Given the description of an element on the screen output the (x, y) to click on. 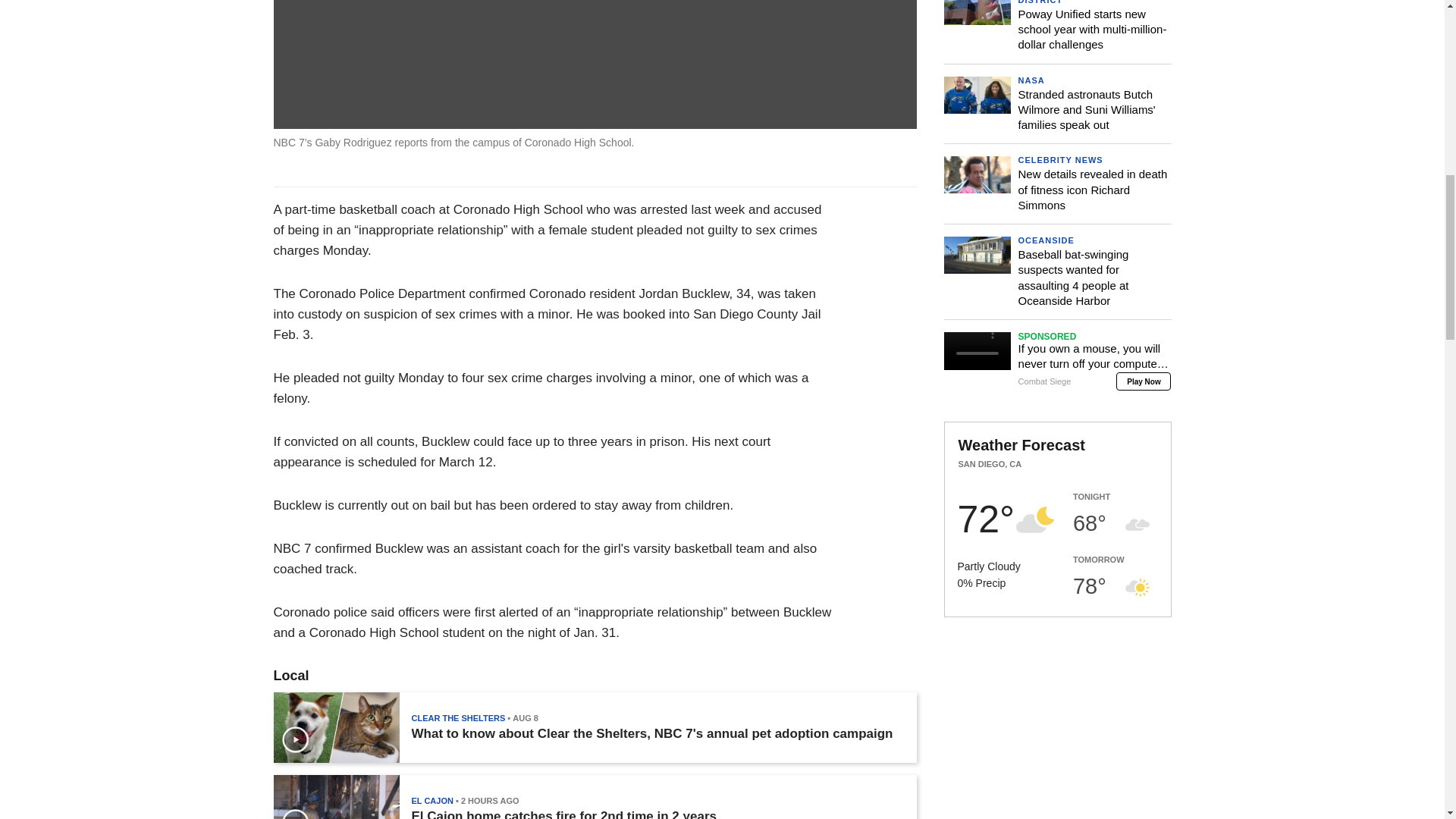
EL CAJON (431, 800)
CLEAR THE SHELTERS (457, 717)
El Cajon home catches fire for 2nd time in 2 years (563, 814)
